Given the description of an element on the screen output the (x, y) to click on. 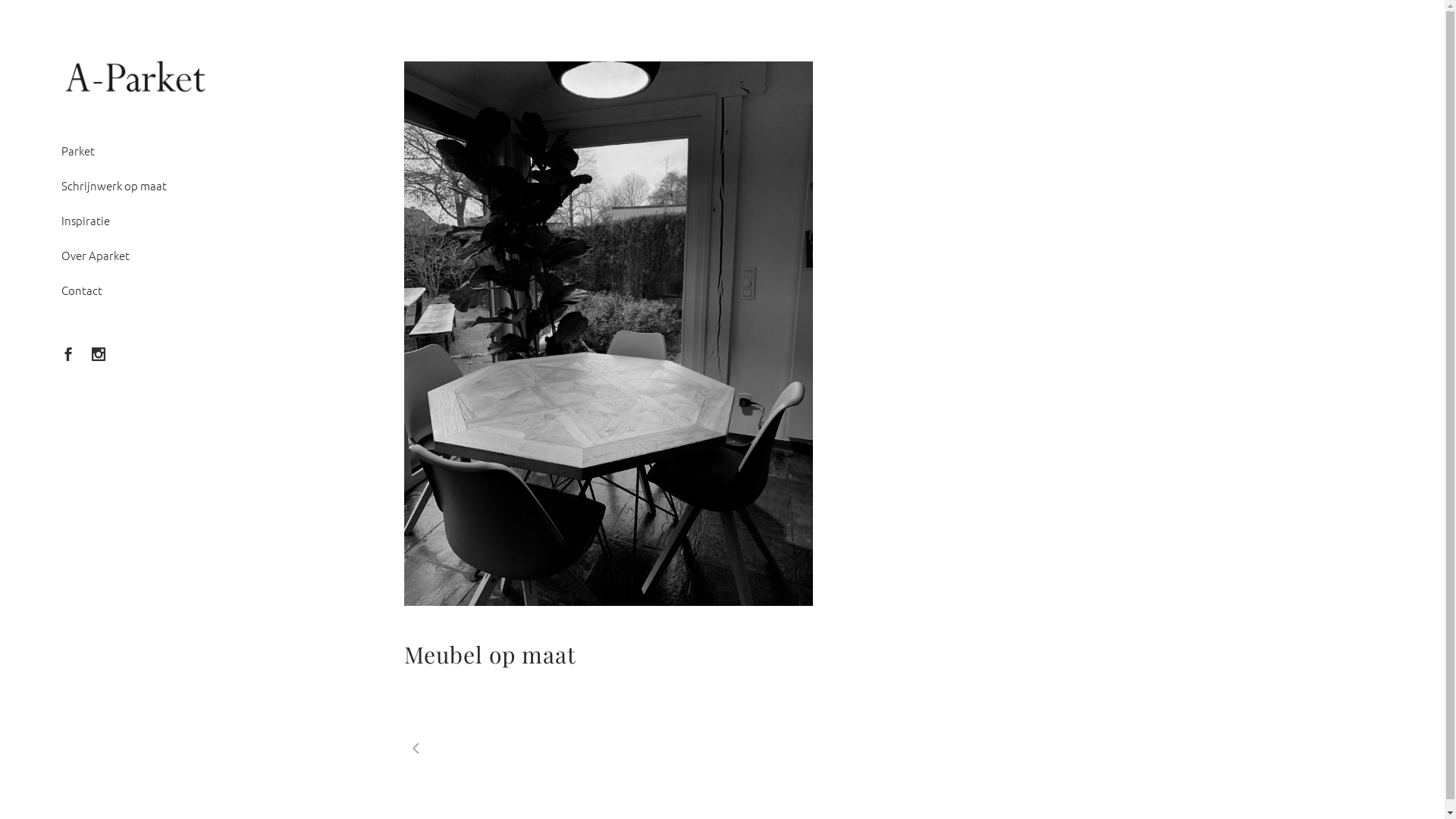
Contact Element type: text (135, 290)
Inspiratie Element type: text (135, 220)
Schrijnwerk op maat Element type: text (135, 185)
Parket Element type: text (135, 150)
IMG_7801 Element type: hover (607, 333)
Over Aparket Element type: text (135, 255)
